Given the description of an element on the screen output the (x, y) to click on. 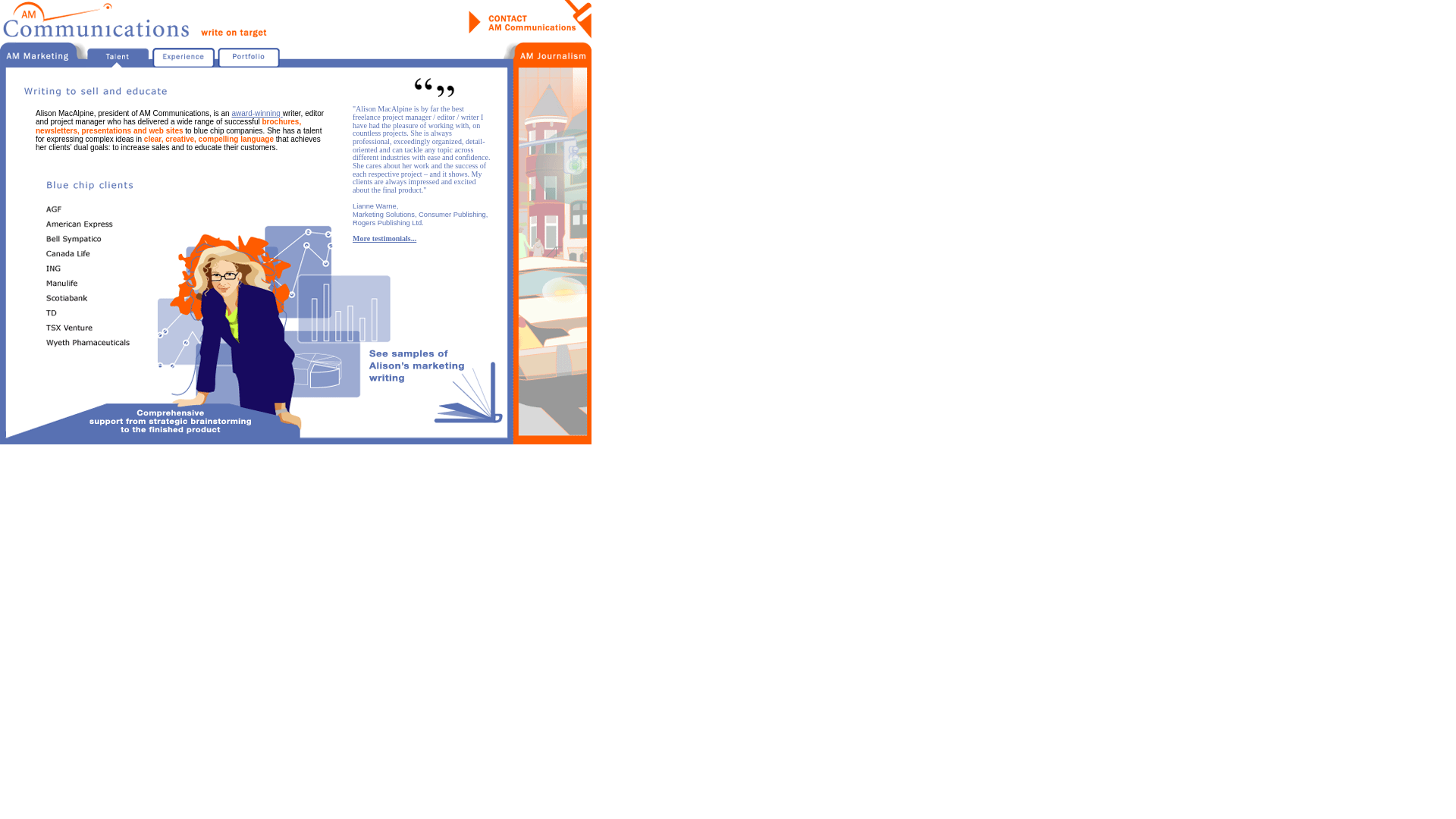
award-winning Element type: text (256, 113)
More testimonials... Element type: text (384, 238)
